Given the description of an element on the screen output the (x, y) to click on. 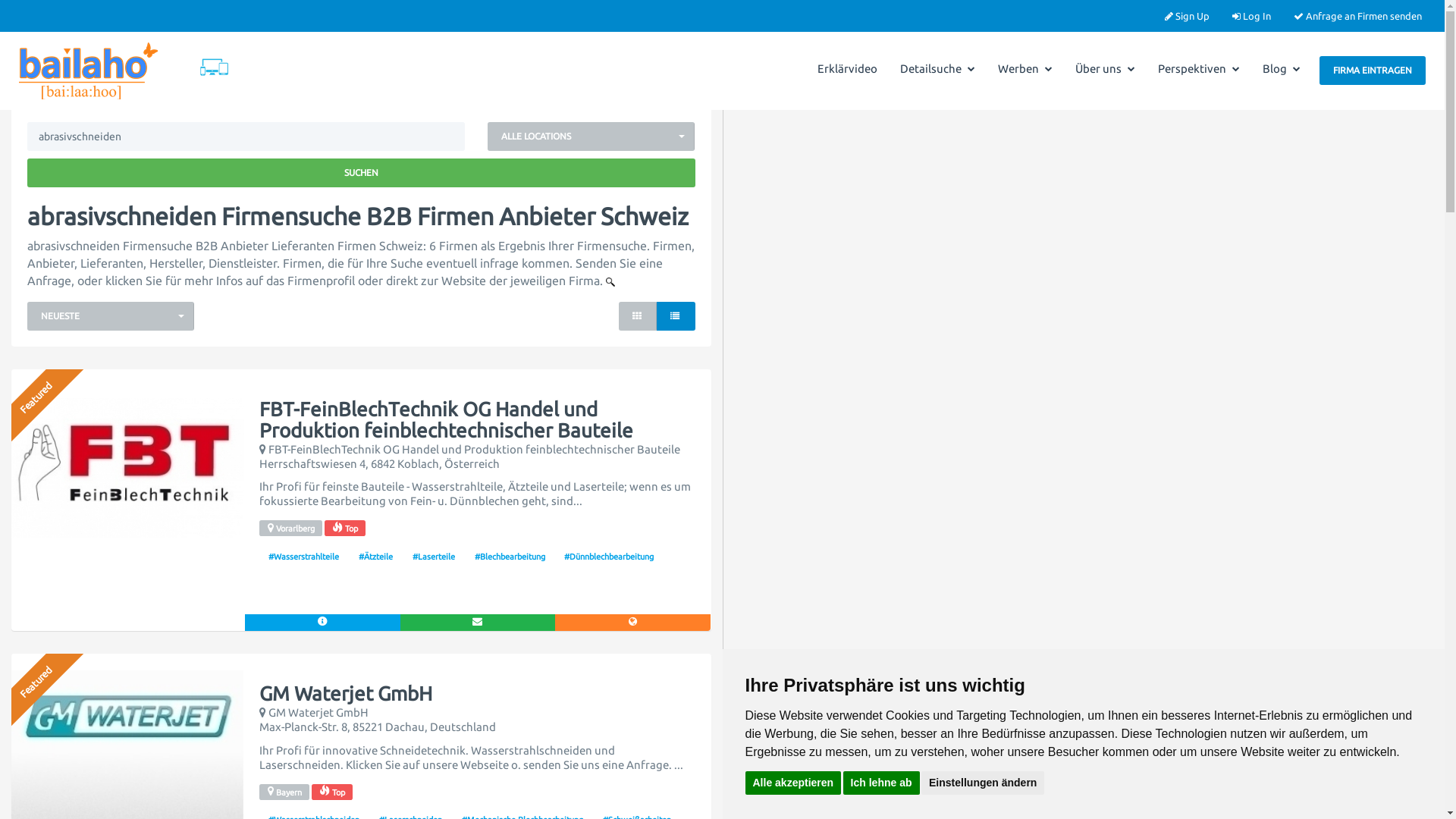
Ich lehne ab Element type: text (881, 781)
FIRMA EINTRAGEN Element type: text (1372, 70)
Werben Element type: text (1024, 68)
GM Waterjet GmbH Element type: text (345, 694)
     Element type: text (705, 377)
Detailsuche Element type: text (937, 68)
Blog Element type: text (1281, 68)
FIRMA EINTRAGEN Element type: text (1372, 68)
SUCHEN Element type: text (361, 172)
Alle akzeptieren Element type: text (792, 781)
#Wasserstrahlteile Element type: text (302, 555)
Log In Element type: text (1251, 15)
Anfrage an Firmen senden Element type: text (1357, 15)
ALLE LOCATIONS
  Element type: text (590, 136)
  Element type: text (675, 315)
Sign Up Element type: text (1186, 15)
  Element type: text (637, 315)
NEUESTE
  Element type: text (110, 315)
     Element type: text (705, 661)
#Blechbearbeitung Element type: text (509, 555)
B2B-Suche Firmensuche Firmen Schweiz Element type: hover (214, 67)
Perspektiven Element type: text (1198, 68)
#Laserteile Element type: text (432, 555)
